Given the description of an element on the screen output the (x, y) to click on. 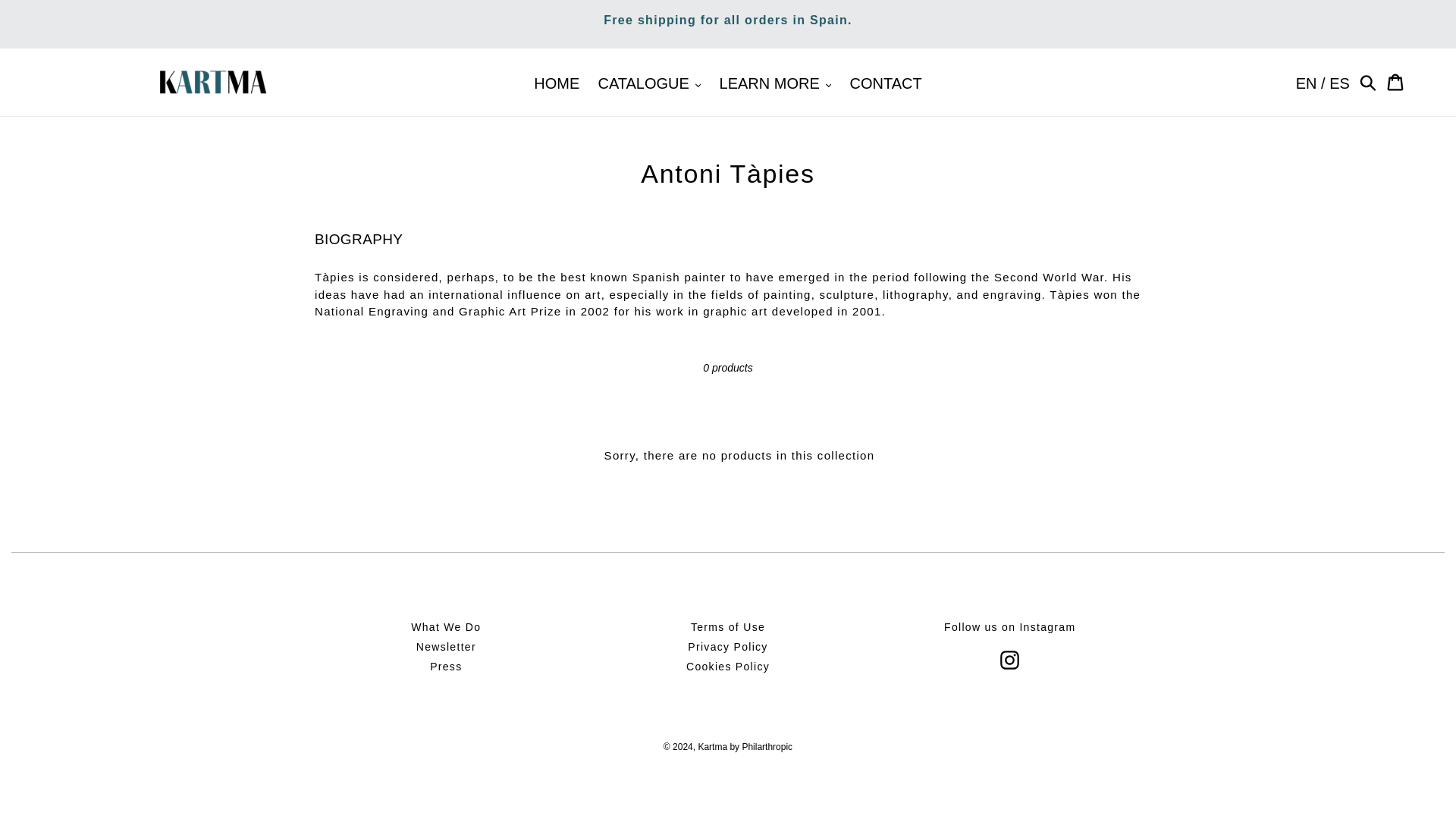
CONTACT (884, 83)
Press (445, 666)
Terms of Use (727, 626)
Newsletter (446, 646)
What We Do (445, 626)
ES (1339, 83)
EN (1306, 83)
Cookies Policy (727, 666)
Instagram (1009, 659)
Privacy Policy (727, 646)
Cart (1395, 82)
HOME (555, 83)
English (1306, 83)
